Given the description of an element on the screen output the (x, y) to click on. 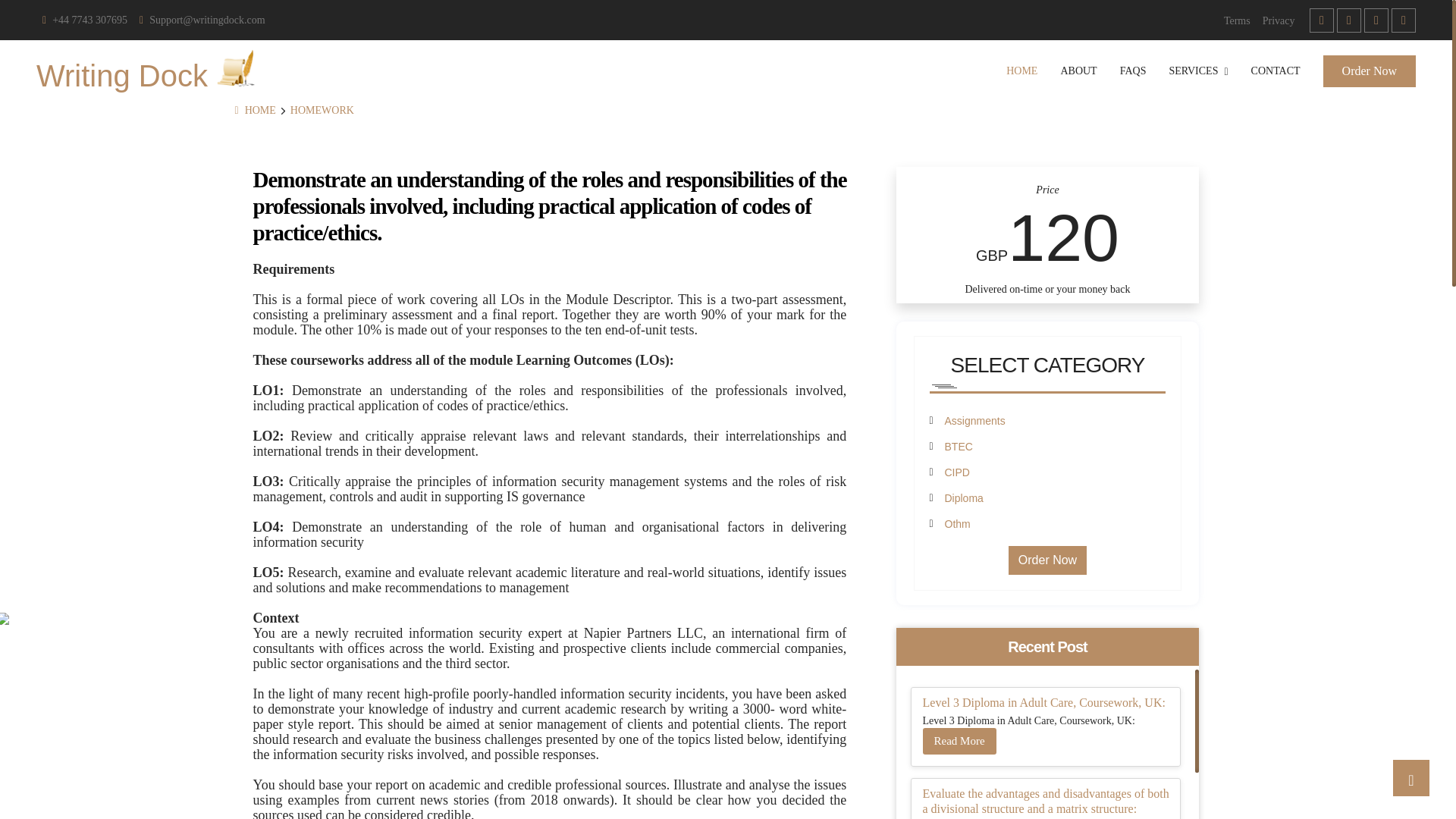
Writing Dock (151, 70)
Privacy (1278, 19)
SERVICES (1198, 71)
Terms (1236, 19)
Order Now (1369, 70)
